Given the description of an element on the screen output the (x, y) to click on. 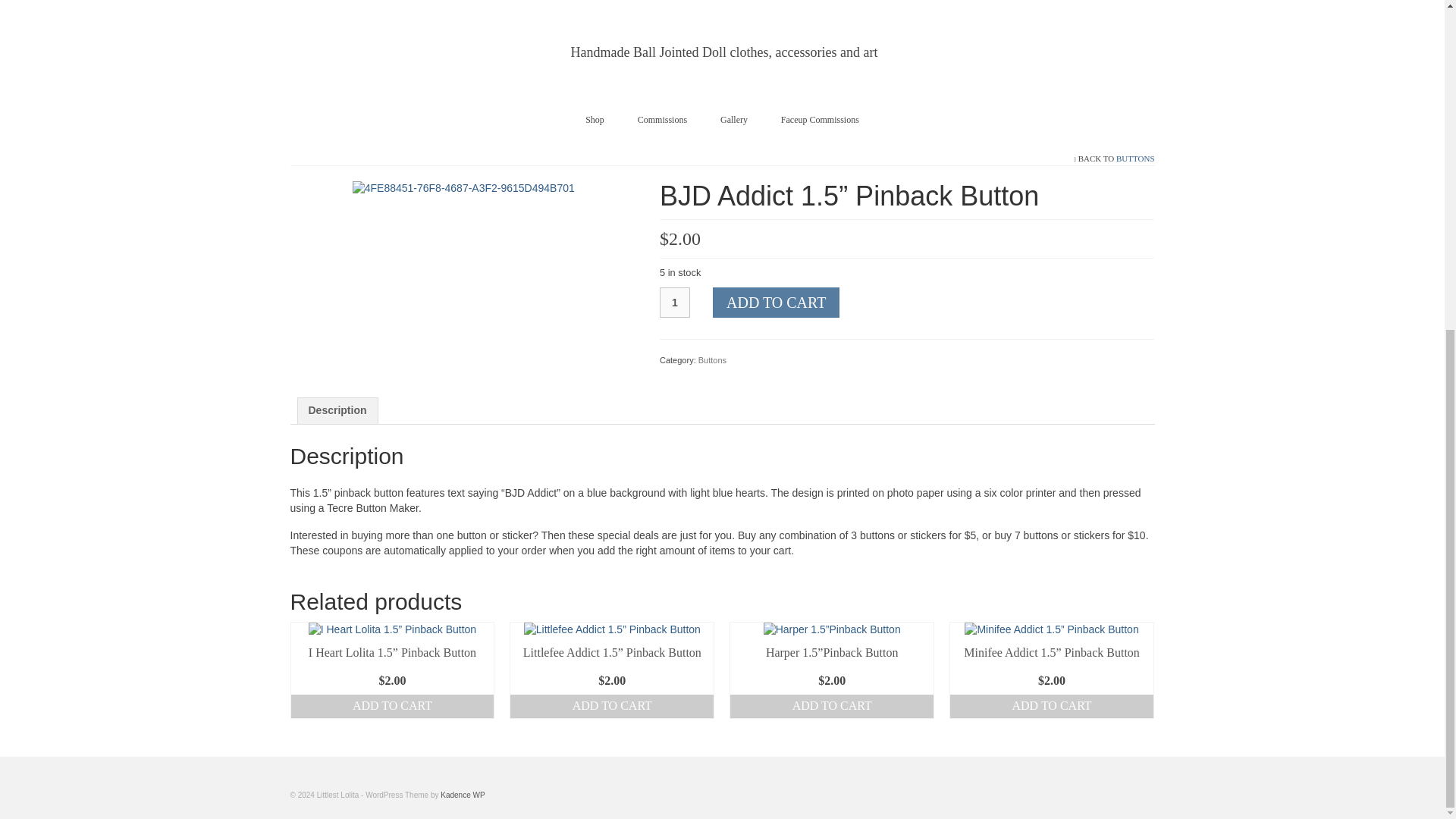
Description (336, 411)
Faceup Commissions (820, 119)
ADD TO CART (393, 706)
1 (674, 302)
ADD TO CART (776, 302)
ADD TO CART (612, 706)
4FE88451-76F8-4687-A3F2-9615D494B701 (463, 187)
Gallery (733, 119)
Commissions (662, 119)
BUTTONS (1135, 157)
Shop (595, 119)
Buttons (712, 359)
